Given the description of an element on the screen output the (x, y) to click on. 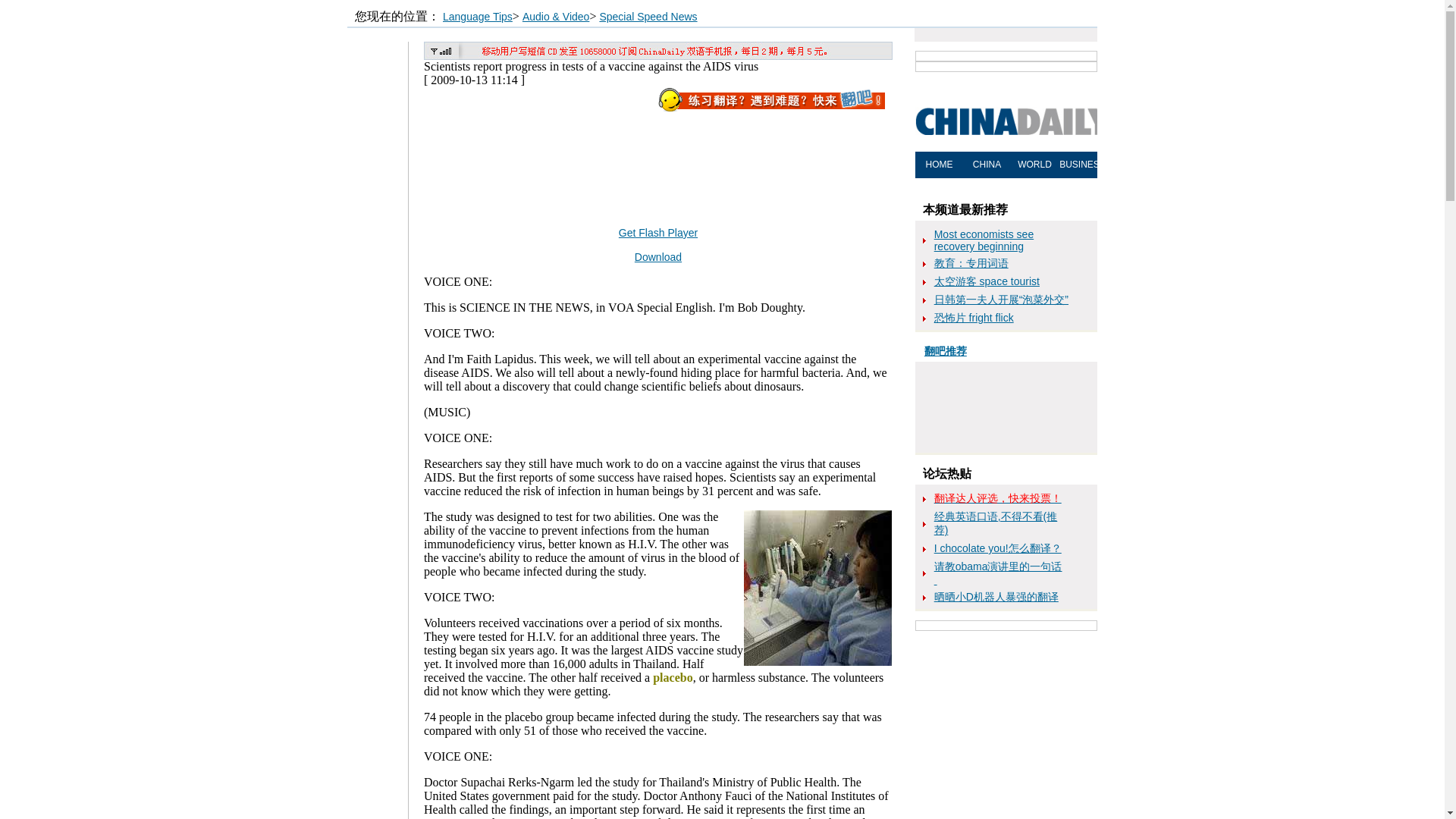
Download (657, 256)
Most economists see recovery beginning (983, 240)
Language Tips (477, 16)
Special Speed News (647, 16)
Get Flash Player (657, 232)
